Given the description of an element on the screen output the (x, y) to click on. 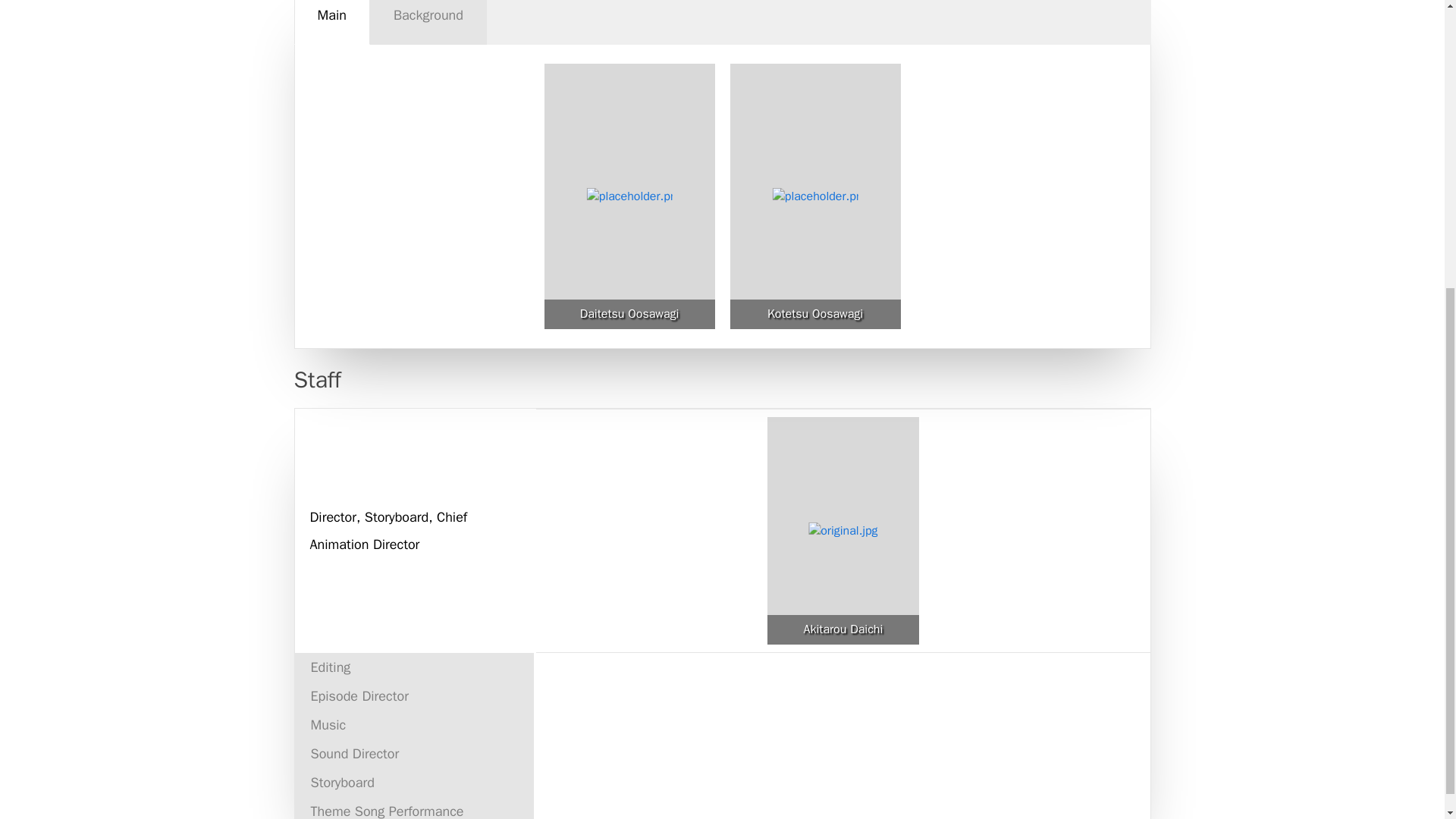
Akitarou Daichi (842, 629)
Daitetsu Oosawagi (629, 313)
Kotetsu Oosawagi (815, 313)
